Given the description of an element on the screen output the (x, y) to click on. 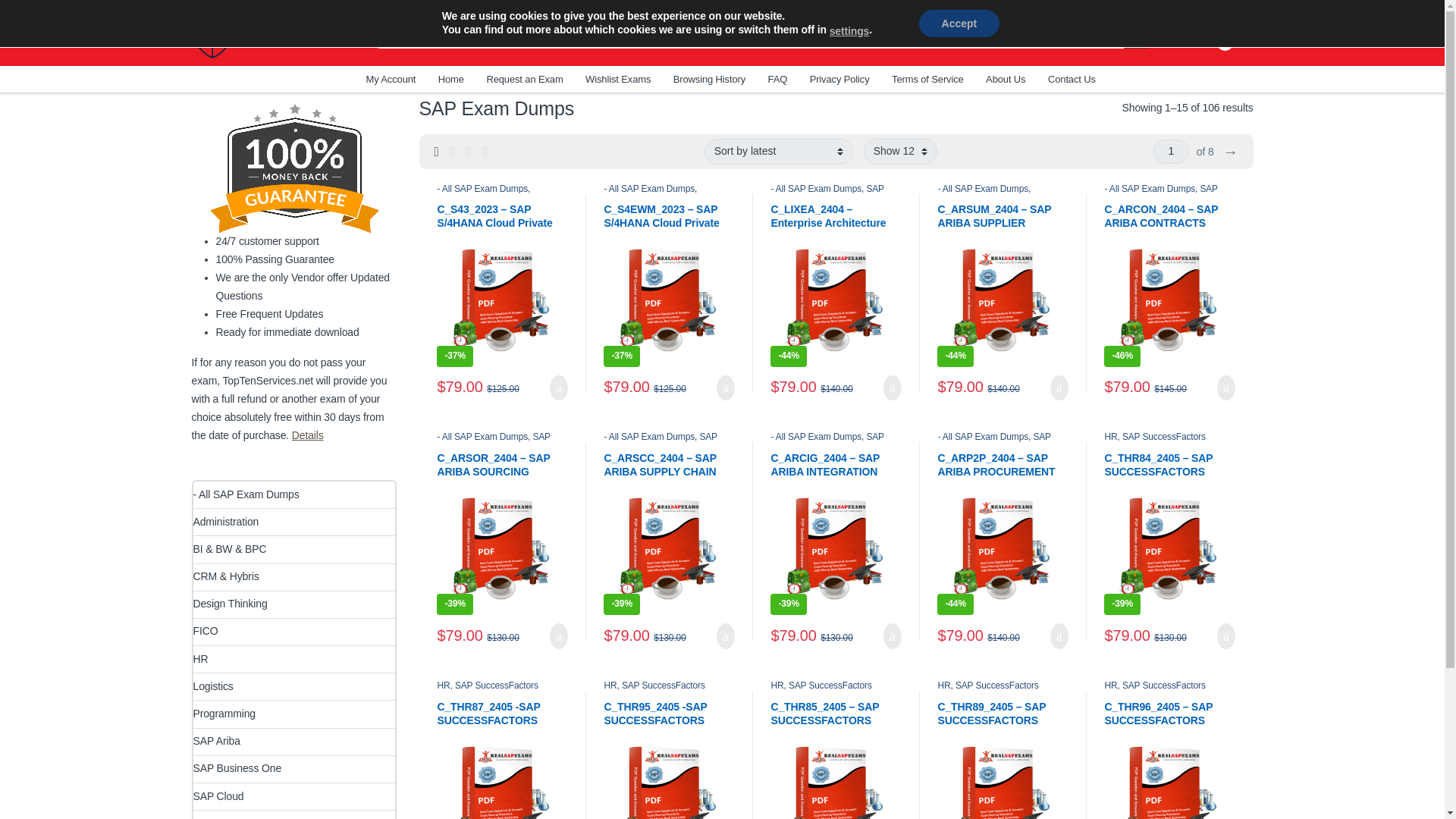
About Us (1005, 79)
Privacy Policy (839, 79)
- All SAP Exam Dumps (481, 188)
1 (1171, 151)
SAP ERP (494, 197)
My Account (389, 79)
Request an Exam (524, 79)
Privacy Policy (839, 79)
Terms of Service (927, 79)
All Departments (266, 79)
